Given the description of an element on the screen output the (x, y) to click on. 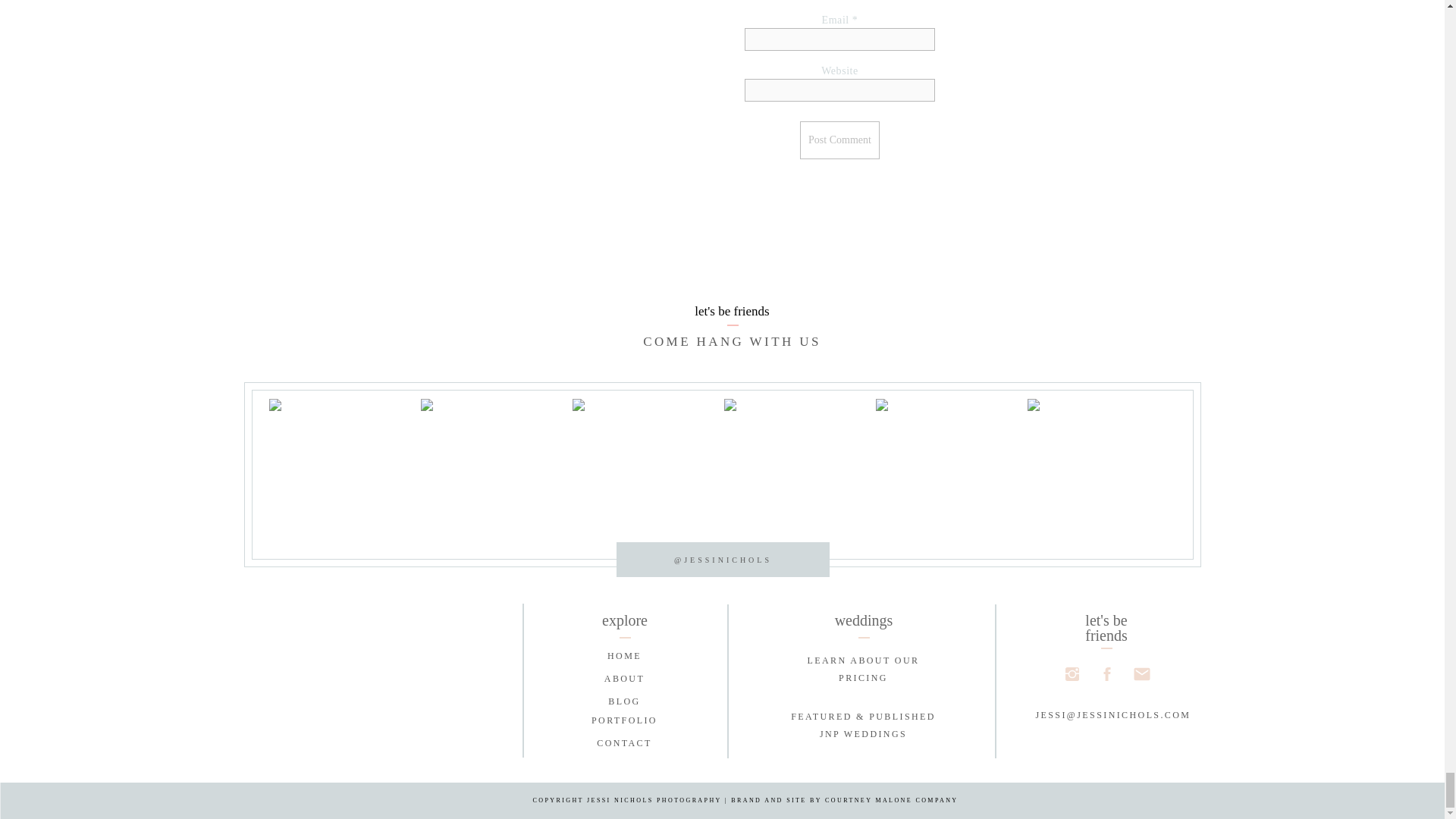
Post Comment (839, 139)
ABOUT (623, 678)
HOME (623, 656)
CONTACT (623, 743)
COME HANG WITH US (863, 671)
PORTFOLIO (731, 342)
Post Comment (623, 720)
BLOG (839, 139)
